Given the description of an element on the screen output the (x, y) to click on. 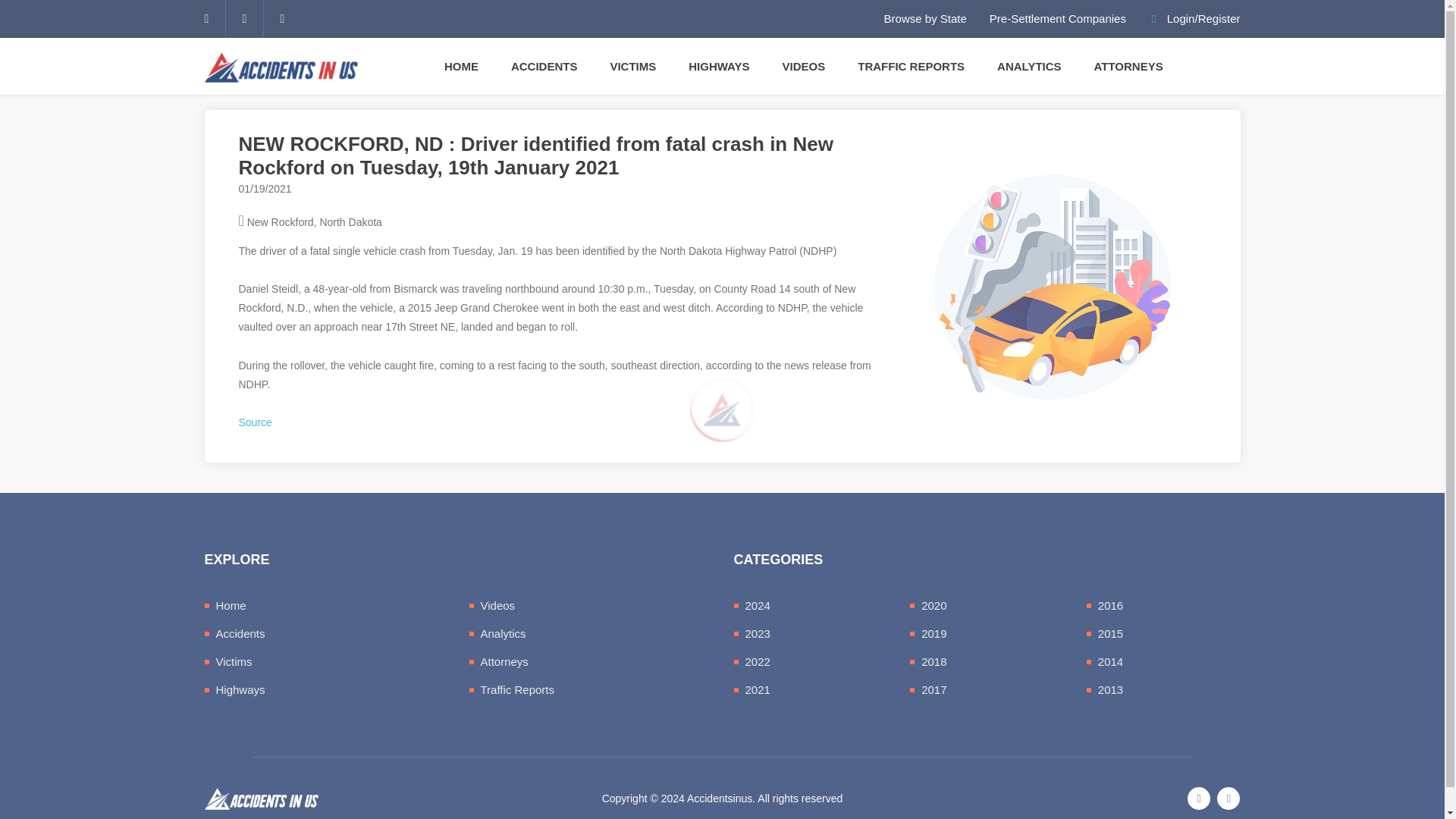
Home (230, 604)
2013 (1109, 689)
Videos (497, 604)
Pre-Settlement Companies (1057, 18)
Analytics (502, 633)
Login (1181, 18)
ACCIDENTS (551, 66)
2017 (933, 689)
2021 (757, 689)
VICTIMS (639, 66)
